Given the description of an element on the screen output the (x, y) to click on. 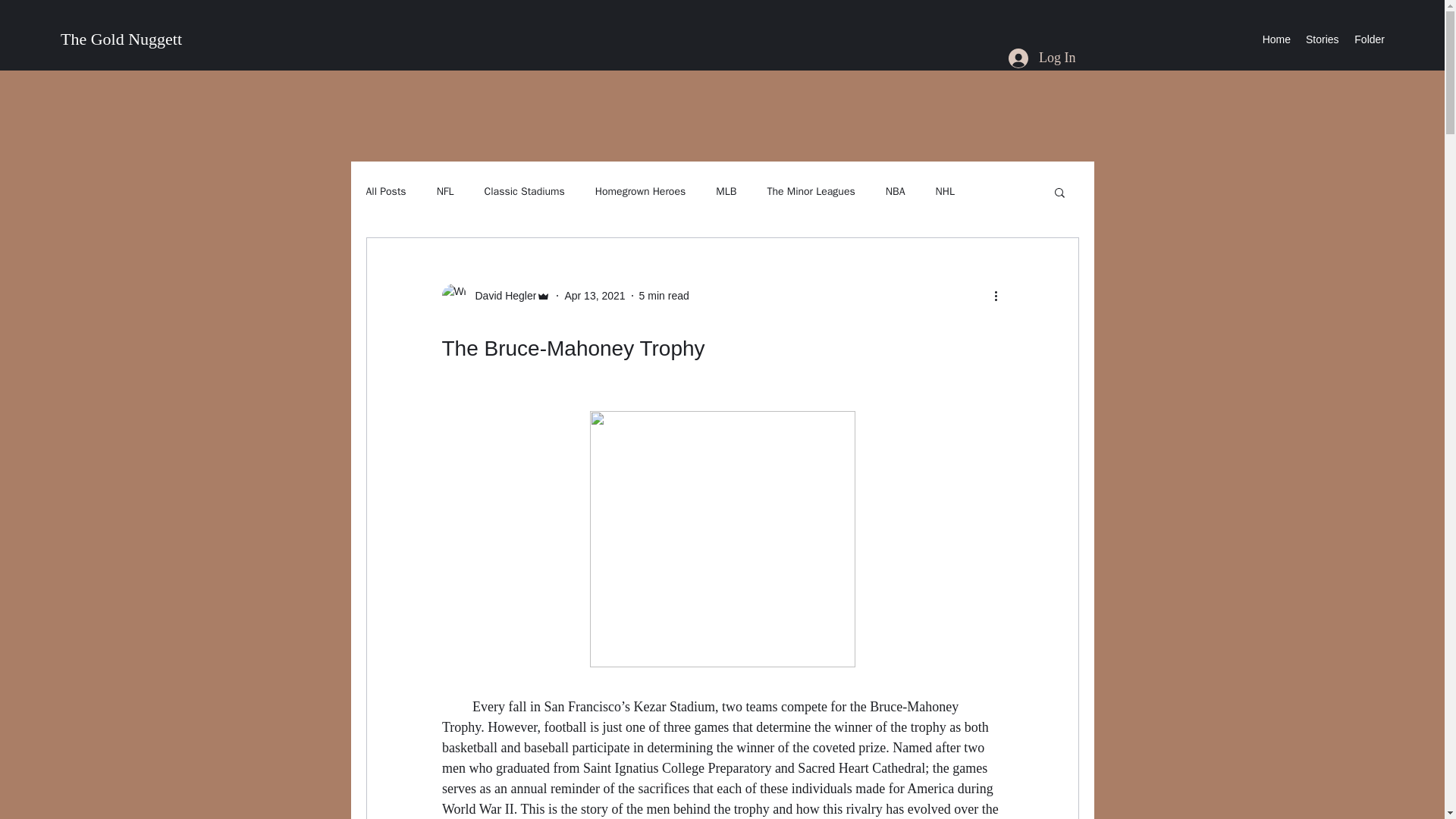
NHL (943, 192)
Homegrown Heroes (640, 192)
David Hegler (500, 295)
Home (1275, 38)
Apr 13, 2021 (594, 295)
Stories (1321, 38)
Classic Stadiums (524, 192)
All Posts (385, 192)
5 min read (663, 295)
David Hegler (495, 295)
